Given the description of an element on the screen output the (x, y) to click on. 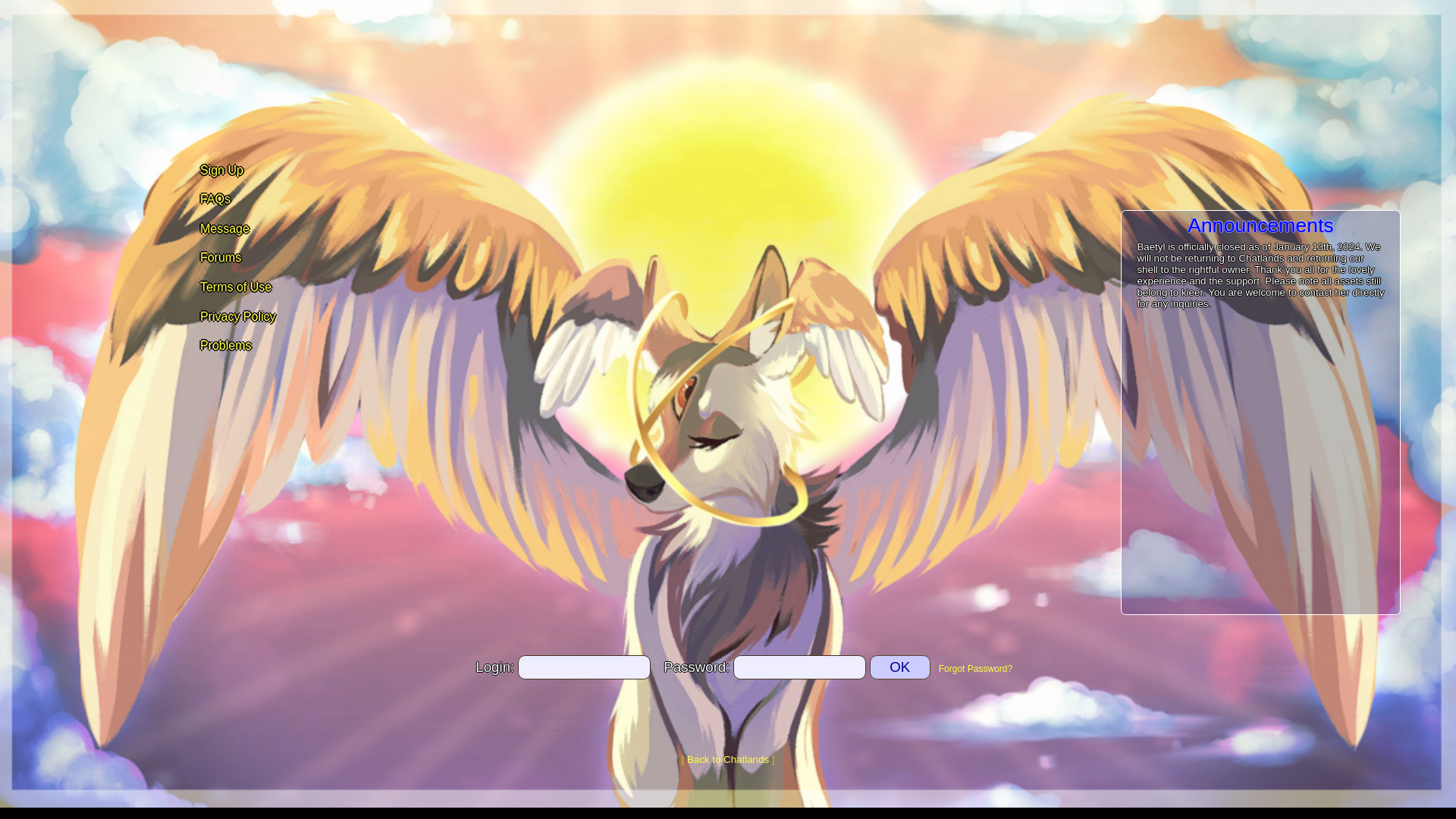
Terms of Use (234, 287)
Message (223, 228)
OK (899, 667)
Problems (224, 346)
Forgot Password? (975, 668)
FAQs (213, 199)
OK (899, 667)
Sign Up (220, 170)
Privacy Policy (236, 316)
Back to Chatlands (727, 758)
